Given the description of an element on the screen output the (x, y) to click on. 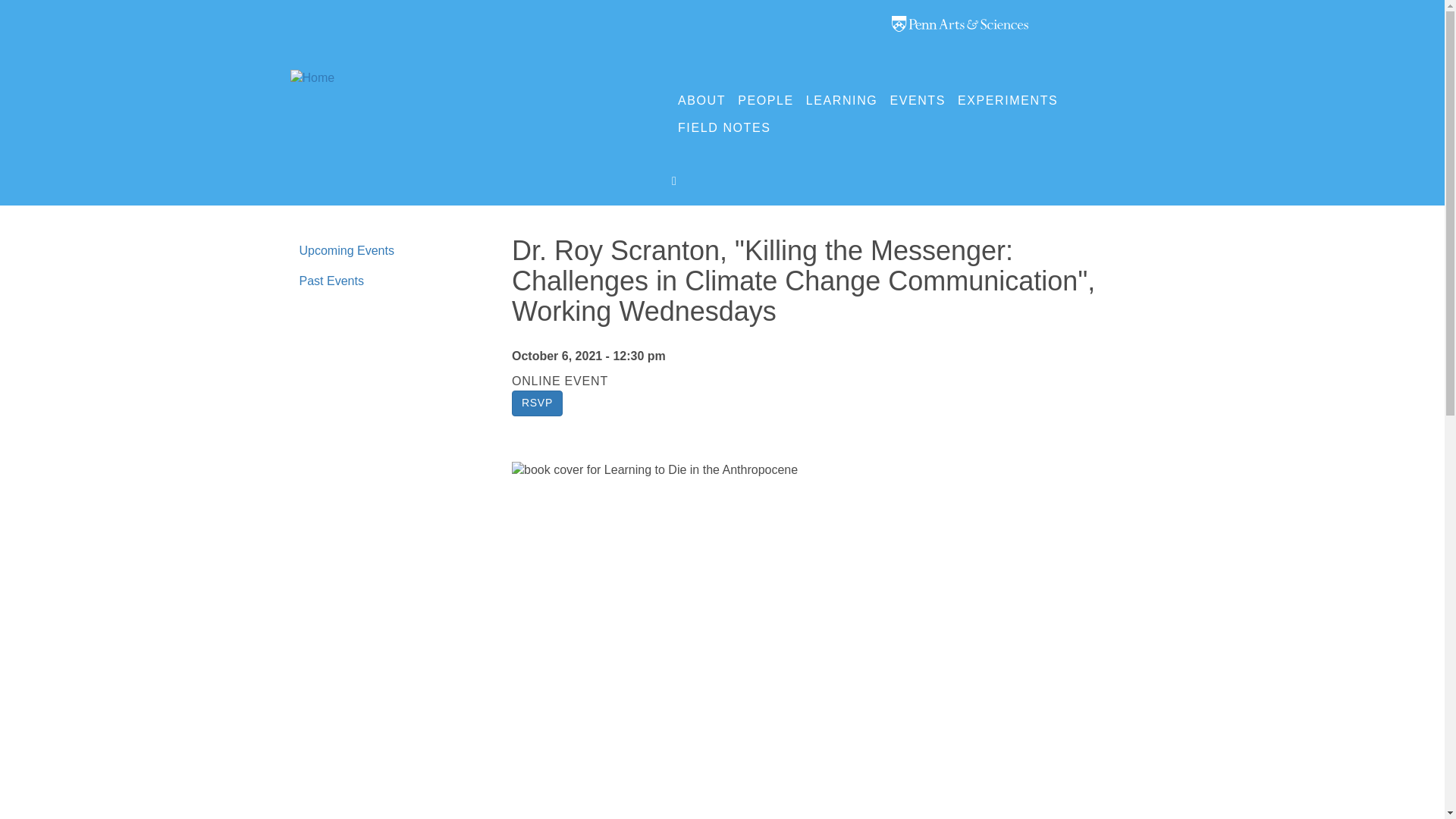
LEARNING (841, 100)
Home (311, 85)
PEOPLE (765, 100)
EXPERIMENTS (1008, 100)
ABOUT (701, 100)
EVENTS (917, 100)
